Given the description of an element on the screen output the (x, y) to click on. 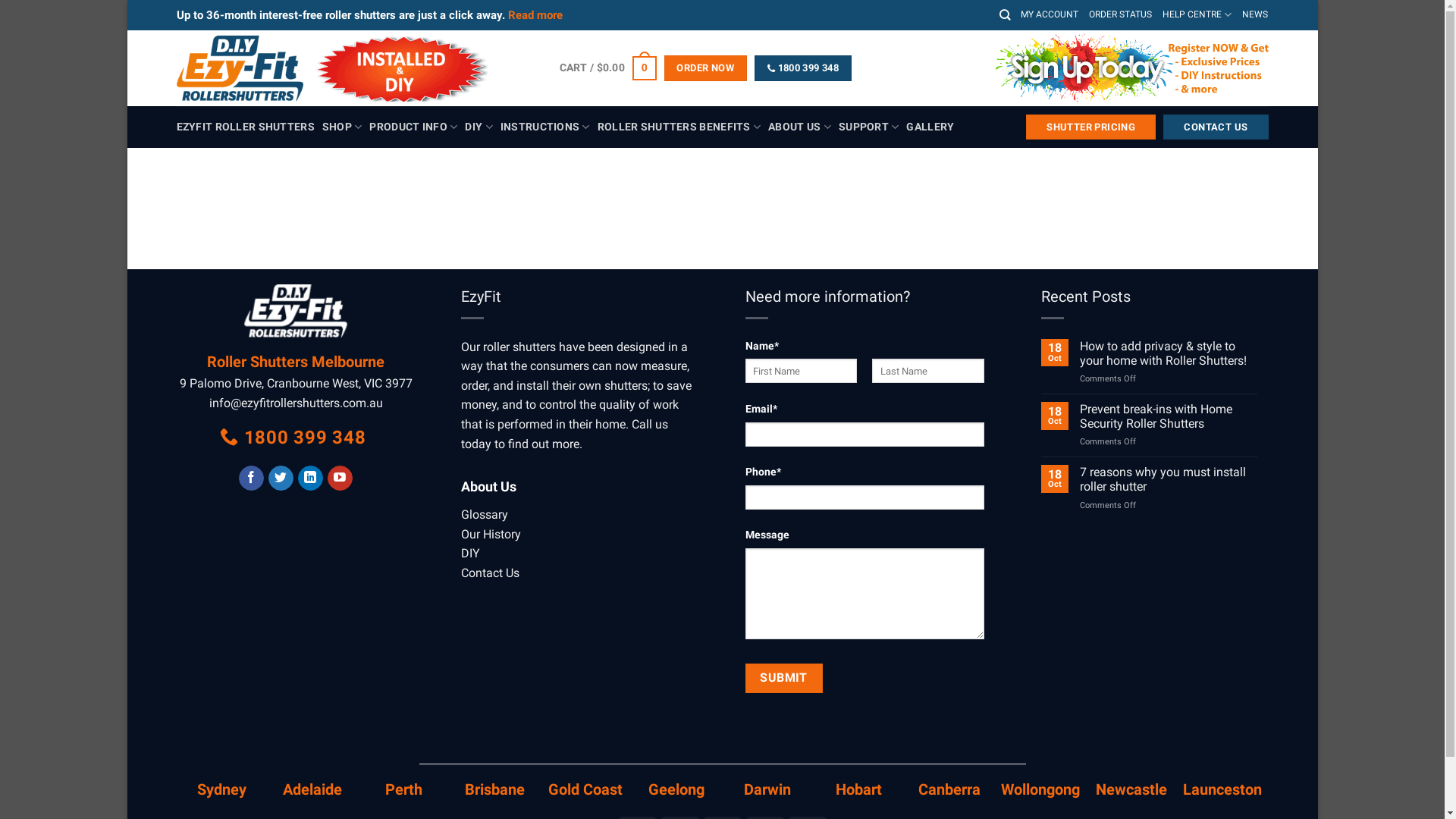
Follow on Twitter Element type: hover (280, 478)
Follow on LinkedIn Element type: hover (310, 478)
Submit Element type: text (783, 678)
Our History Element type: text (490, 533)
 1800 399 348 Element type: text (802, 68)
SHUTTER PRICING Element type: text (1090, 127)
Read more Element type: text (535, 14)
ROLLER SHUTTERS BENEFITS Element type: text (678, 126)
Glossary Element type: text (484, 514)
Roller Shutters Melbourne Element type: text (295, 361)
Geelong Element type: text (676, 789)
SHOP Element type: text (342, 126)
EzyFit Element type: hover (355, 68)
Launceston Element type: text (1222, 789)
EZYFIT ROLLER SHUTTERS Element type: text (244, 127)
INSTRUCTIONS Element type: text (544, 126)
Hobart Element type: text (858, 789)
Prevent break-ins with Home Security Roller Shutters Element type: text (1167, 415)
Wollongong Element type: text (1040, 789)
Newcastle Element type: text (1131, 789)
Darwin Element type: text (766, 789)
Brisbane Element type: text (494, 789)
Adelaide Element type: text (312, 789)
Perth Element type: text (403, 789)
ABOUT US Element type: text (799, 126)
DIY Element type: text (470, 553)
CONTACT US Element type: text (1215, 127)
SUPPORT Element type: text (868, 126)
7 reasons why you must install roller shutter Element type: text (1167, 478)
Follow on YouTube Element type: hover (339, 478)
Contact Us Element type: text (490, 572)
Gold Coast Element type: text (585, 789)
GALLERY Element type: text (929, 127)
Sydney Element type: text (221, 789)
HELP CENTRE Element type: text (1196, 14)
PRODUCT INFO Element type: text (413, 126)
MY ACCOUNT Element type: text (1049, 14)
1800 399 348 Element type: text (294, 438)
ORDER STATUS Element type: text (1119, 14)
Follow on Facebook Element type: hover (250, 478)
NEWS Element type: text (1254, 14)
DIY Element type: text (478, 126)
info@ezyfitrollershutters.com.au Element type: text (295, 402)
CART / $0.00
0 Element type: text (607, 68)
ORDER NOW Element type: text (705, 68)
Canberra Element type: text (949, 789)
